Given the description of an element on the screen output the (x, y) to click on. 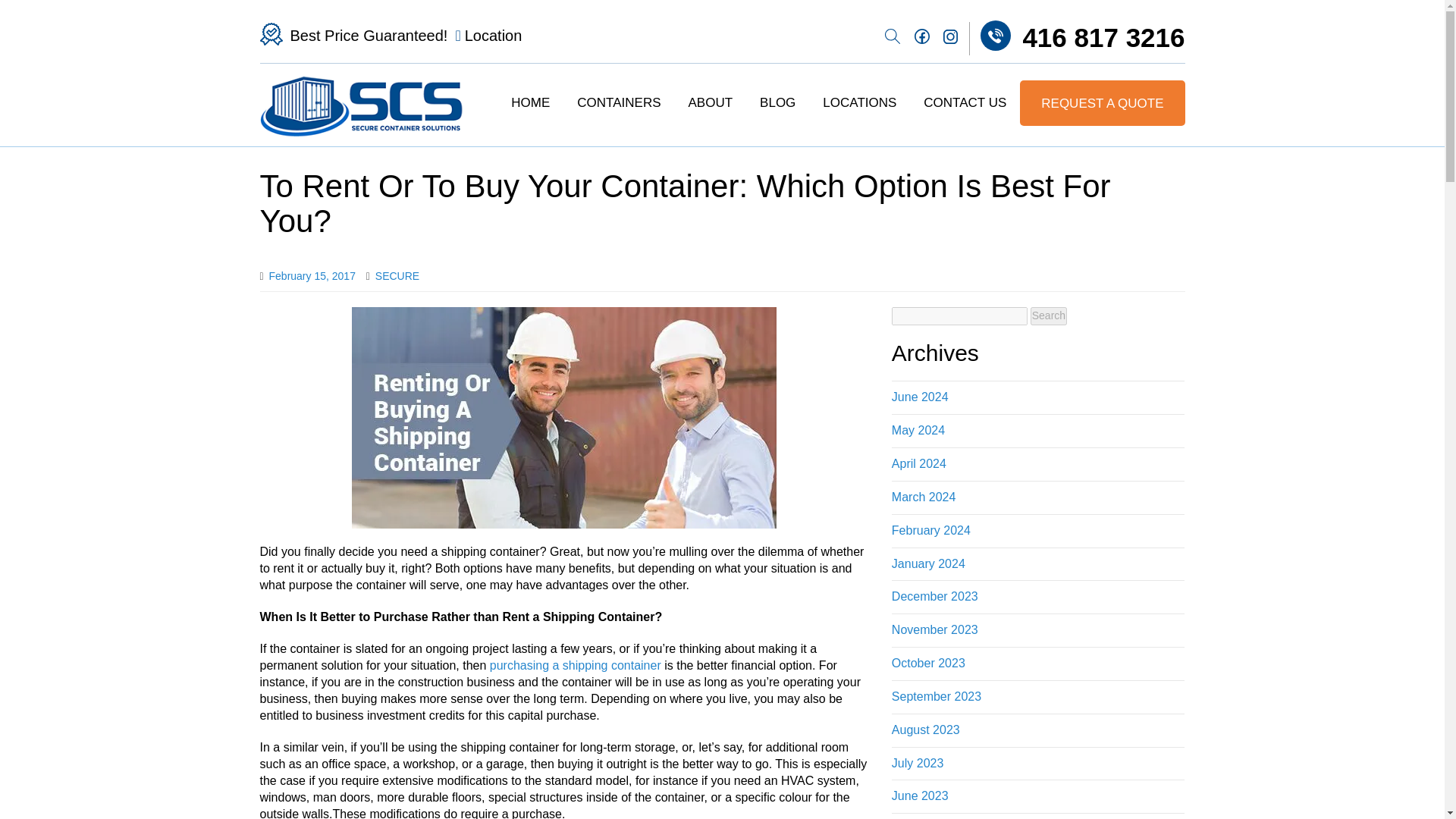
LOCATIONS (859, 103)
HOME (530, 103)
Search (1048, 316)
416 817 3216 (1077, 35)
BLOG (777, 103)
Renting Or Buying A Shipping Container (564, 417)
CONTAINERS (618, 103)
ABOUT (710, 103)
Secure Shipping Containers - Secure Container Solutions (361, 105)
